Given the description of an element on the screen output the (x, y) to click on. 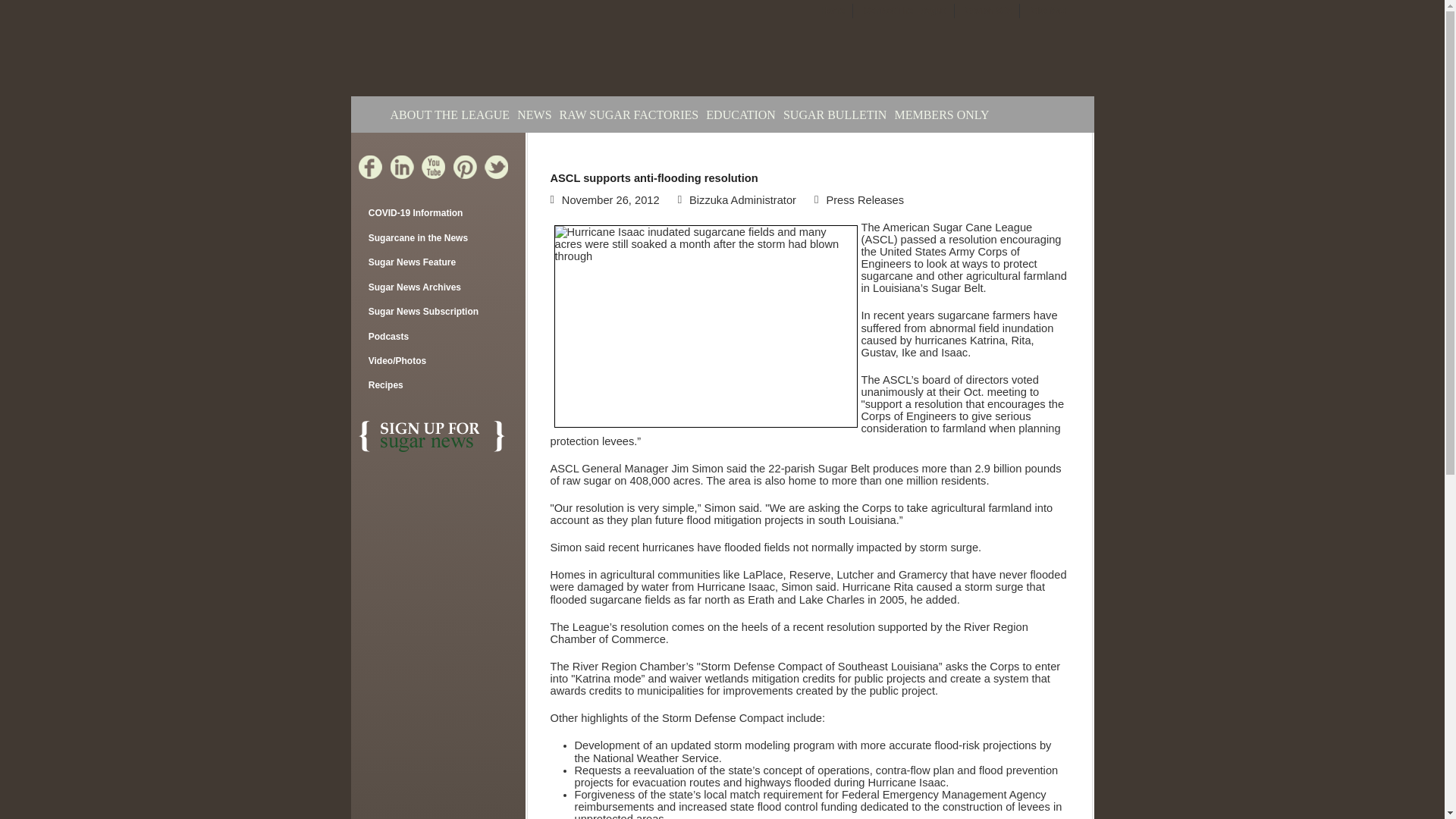
Press Releases (864, 200)
Sugar News Feature (438, 263)
Contact The League (904, 11)
Home (832, 11)
SUGAR BULLETIN (834, 111)
EDUCATION (741, 111)
Posts by Bizzuka Administrator (742, 200)
NEWS (533, 111)
MEMBERS ONLY (940, 111)
Search Site (987, 11)
Sugar News Subscription (438, 312)
Site Map (1047, 11)
COVID-19 Information (438, 214)
ABOUT THE LEAGUE (449, 111)
